Given the description of an element on the screen output the (x, y) to click on. 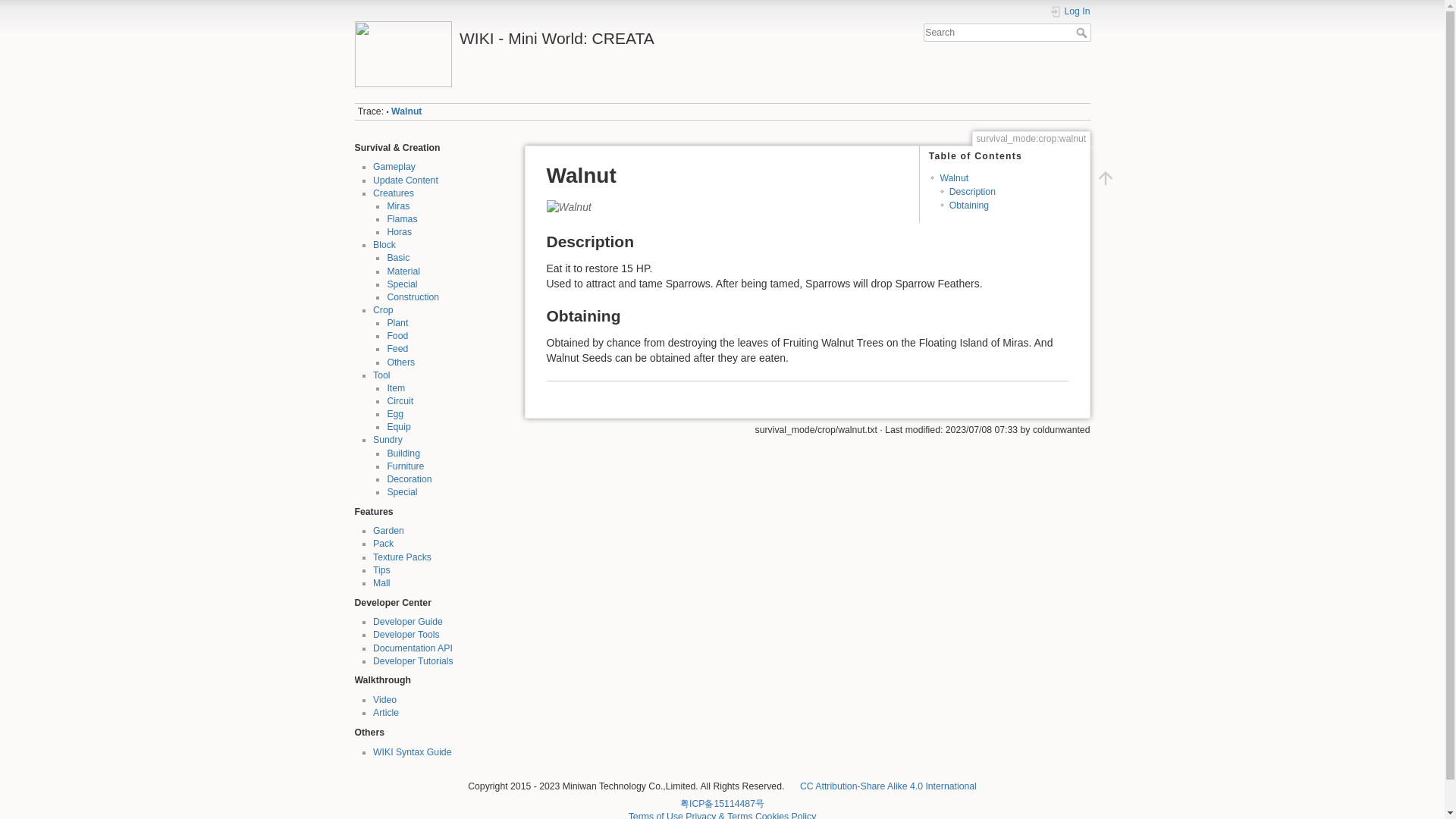
Mall (381, 583)
Special (401, 284)
Search (1082, 32)
Flamas (401, 218)
Construction (413, 296)
Plant (397, 322)
Circuit (400, 400)
Search (1082, 32)
WIKI - Mini World: CREATA (534, 34)
Building (403, 452)
